Given the description of an element on the screen output the (x, y) to click on. 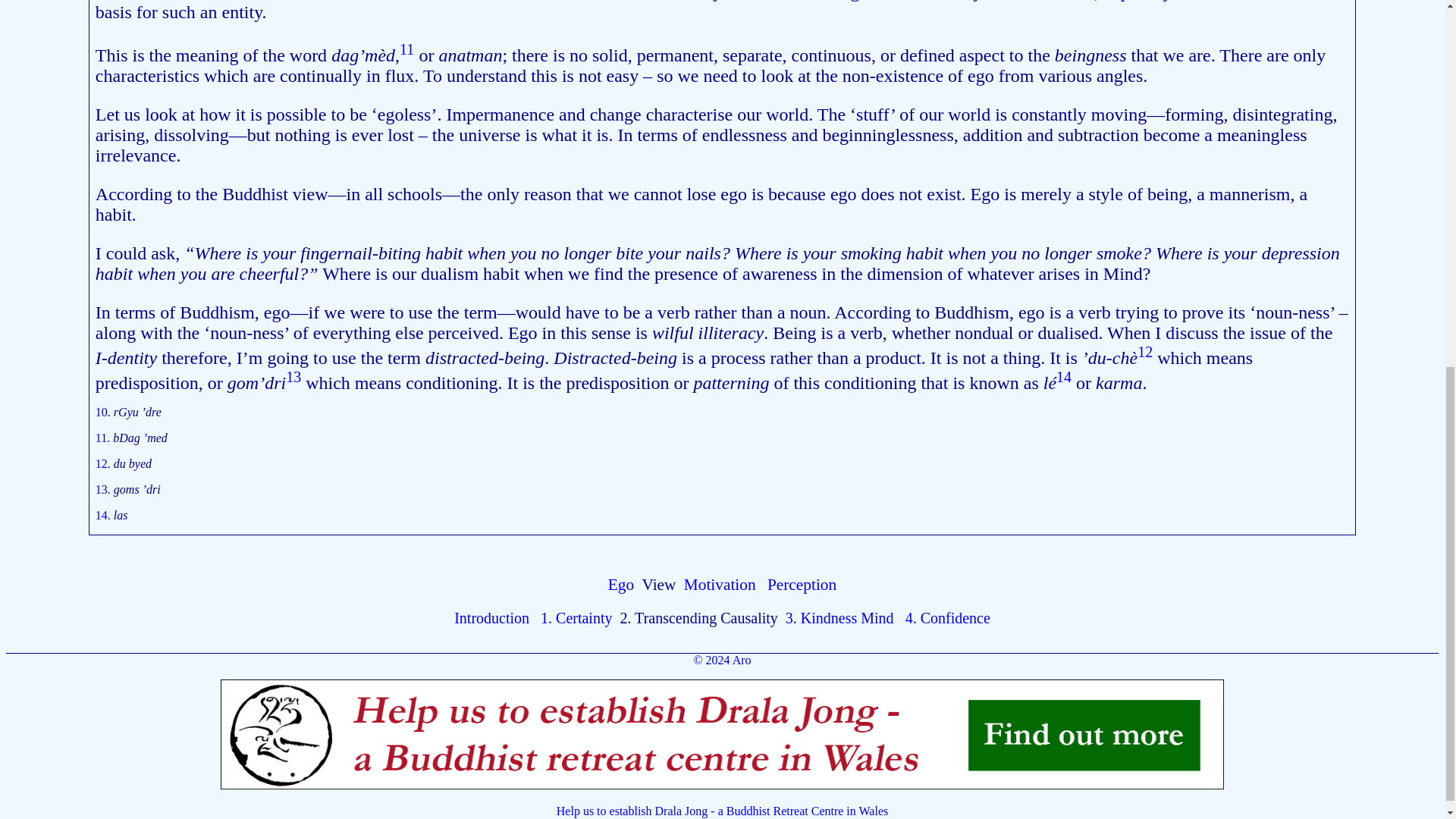
12. (104, 463)
4. Confidence (947, 617)
1. Certainty (576, 617)
11. (104, 437)
Perception (801, 584)
10. (104, 411)
Introduction (490, 617)
14. (104, 514)
Motivation (719, 584)
13. (104, 489)
Ego (620, 584)
3. Kindness Mind (839, 617)
